Given the description of an element on the screen output the (x, y) to click on. 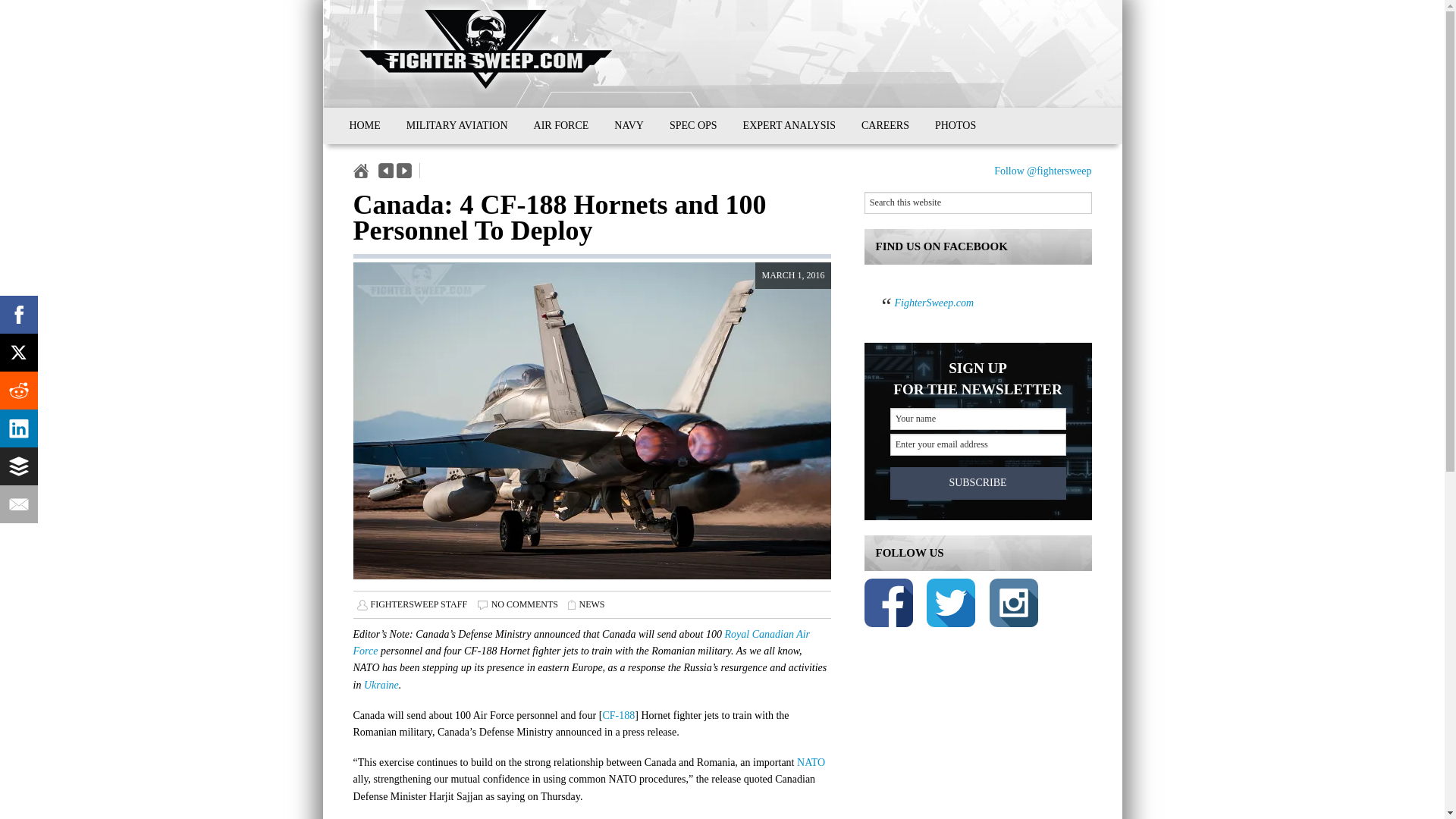
NATO (810, 762)
FIGHTERSWEEP STAFF (418, 603)
NAVY (628, 125)
Facebook (18, 314)
X (18, 352)
AIR FORCE (560, 125)
Ukraine (381, 685)
CAREERS (885, 125)
FighterSweep.com (934, 302)
MILITARY AVIATION (456, 125)
PHOTOS (955, 125)
EXPERT ANALYSIS (789, 125)
LinkedIn (18, 428)
Email (18, 504)
